Given the description of an element on the screen output the (x, y) to click on. 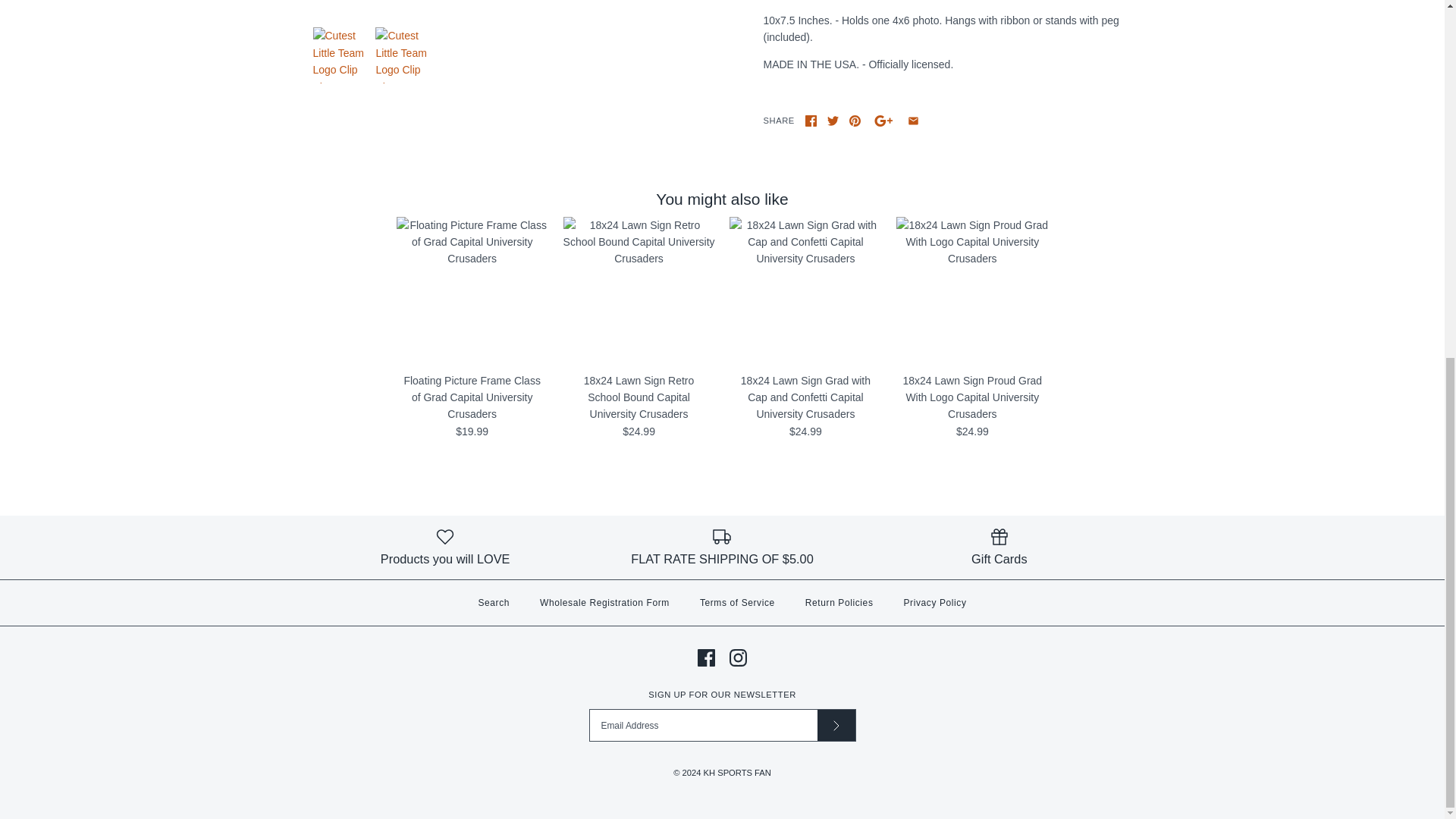
Pinterest (854, 120)
Share on Facebook (810, 120)
Facebook (810, 120)
Instagram (737, 657)
Pin the main image (854, 120)
Twitter (832, 120)
Email (912, 120)
Facebook (705, 657)
GooglePlus (883, 120)
Share on Twitter (832, 120)
Share using email (912, 120)
